Given the description of an element on the screen output the (x, y) to click on. 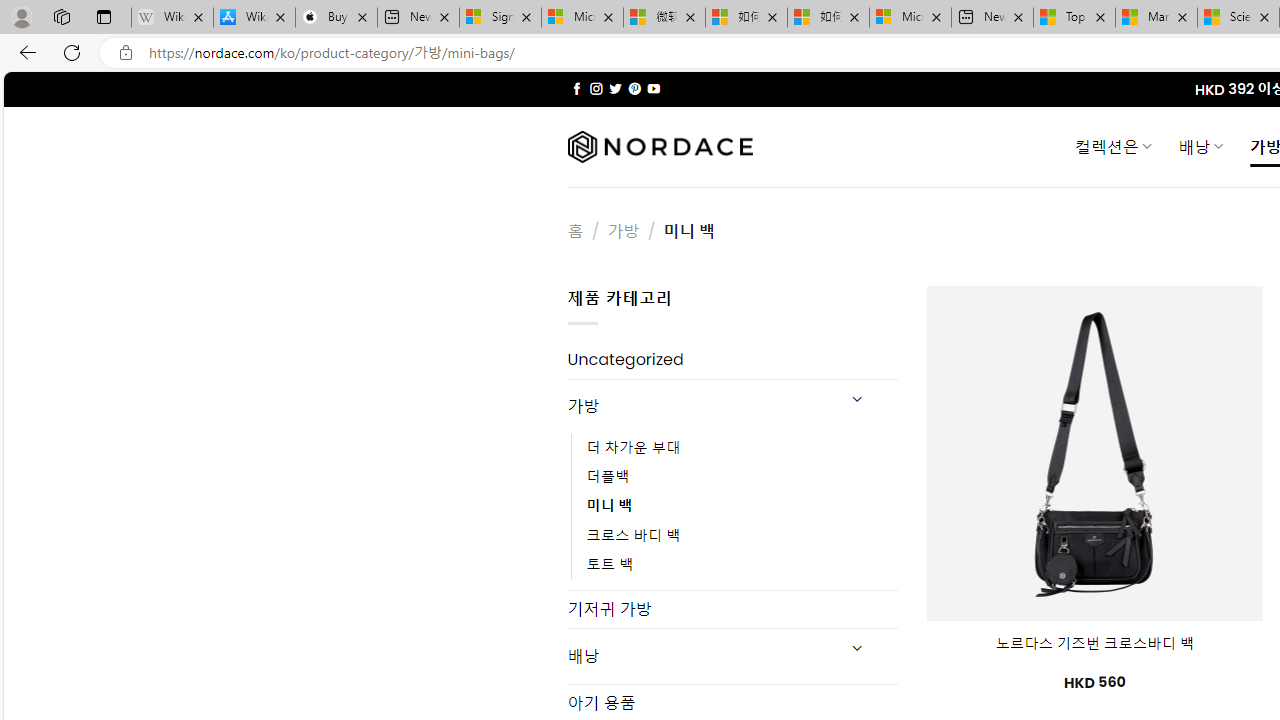
Wikipedia - Sleeping (171, 17)
Sign in to your Microsoft account (500, 17)
Uncategorized (732, 359)
Top Stories - MSN (1074, 17)
